Given the description of an element on the screen output the (x, y) to click on. 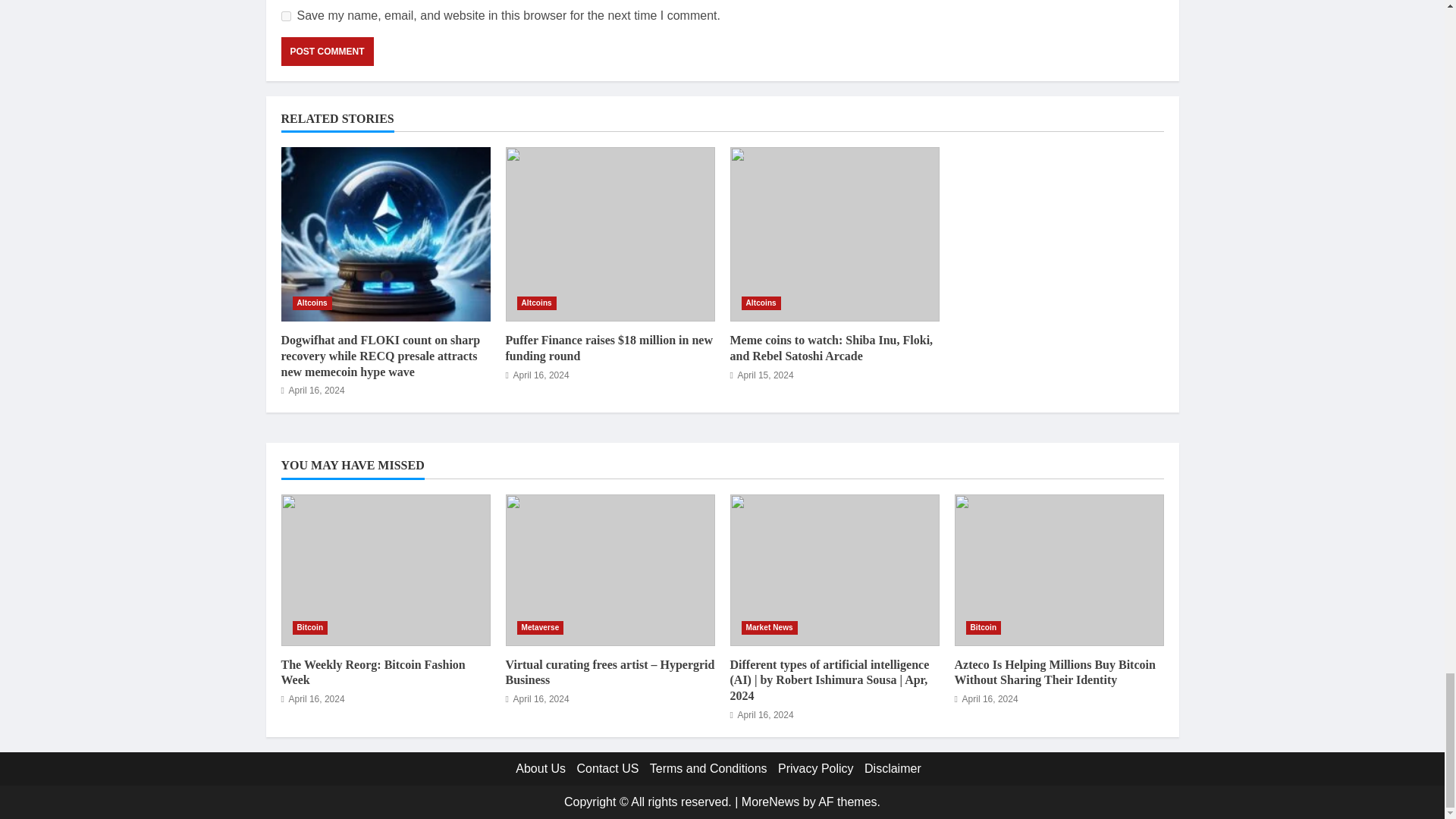
Altcoins (311, 303)
yes (285, 16)
Post Comment (326, 51)
Post Comment (326, 51)
